Given the description of an element on the screen output the (x, y) to click on. 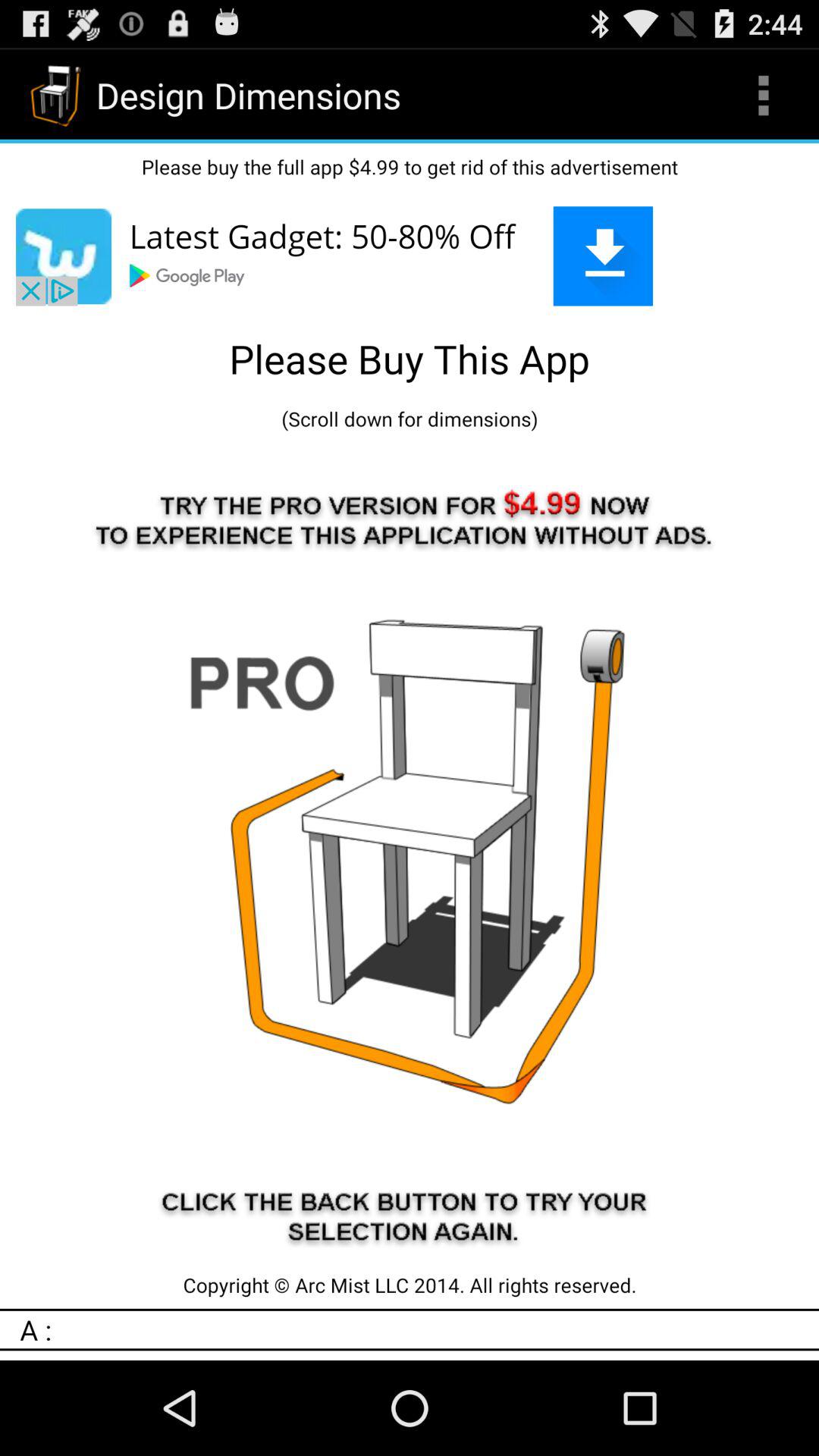
launch the icon at the center (409, 851)
